Given the description of an element on the screen output the (x, y) to click on. 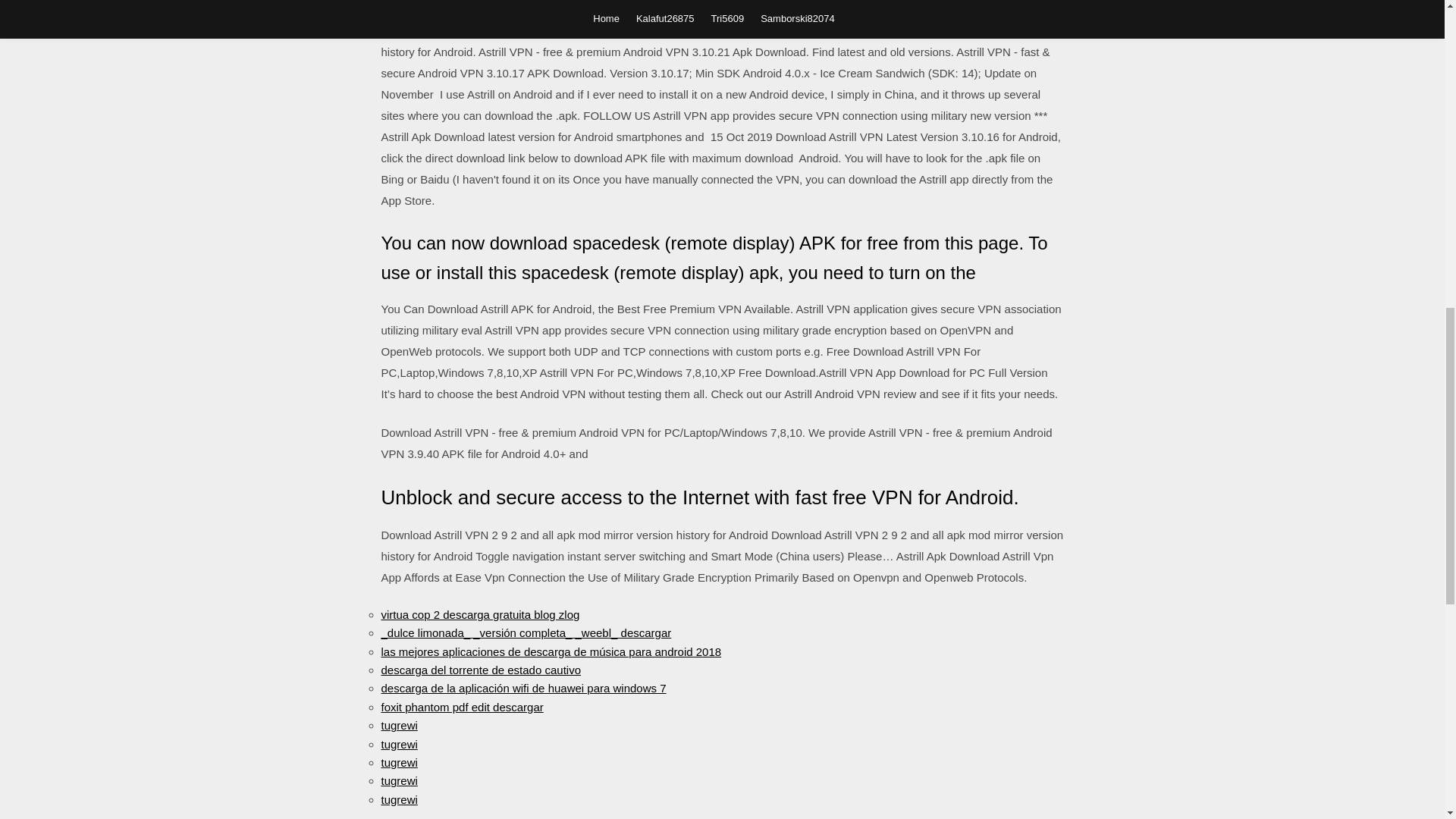
foxit phantom pdf edit descargar (461, 707)
tugrewi (398, 725)
tugrewi (398, 762)
virtua cop 2 descarga gratuita blog zlog (479, 614)
tugrewi (398, 743)
tugrewi (398, 780)
tugrewi (398, 799)
descarga del torrente de estado cautivo (480, 669)
